Given the description of an element on the screen output the (x, y) to click on. 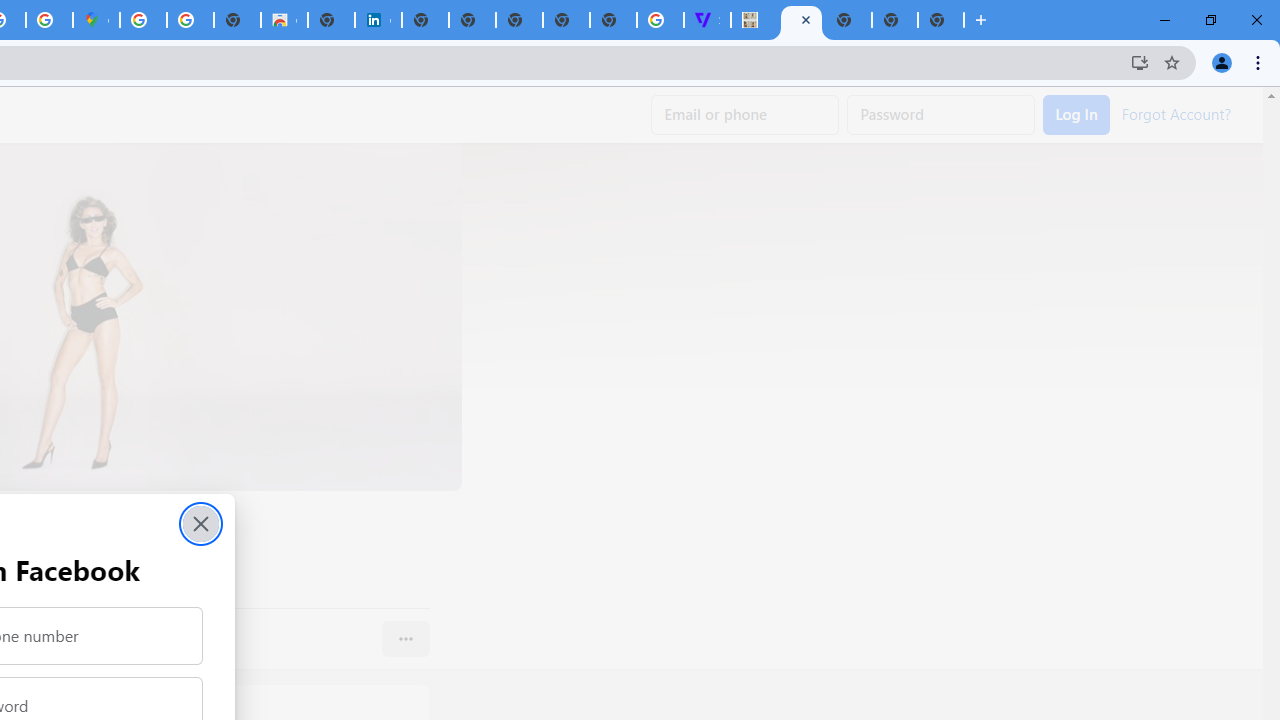
Cookie Policy | LinkedIn (377, 20)
Forgot Account? (1176, 112)
Email or phone (745, 115)
New Tab (940, 20)
Miley Cyrus | Facebook (801, 20)
Install Facebook (1139, 62)
